Given the description of an element on the screen output the (x, y) to click on. 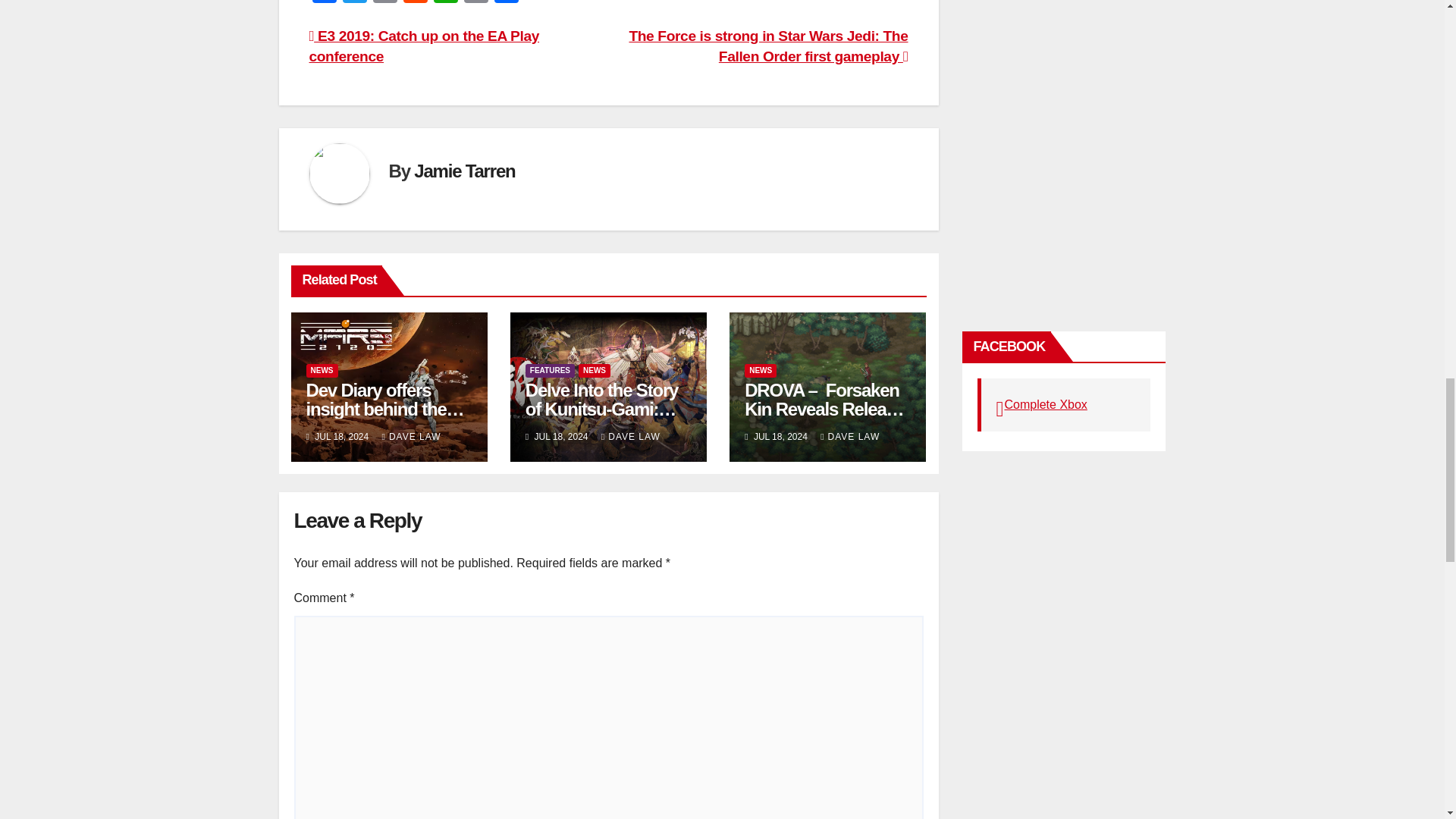
Email (384, 3)
Facebook (323, 3)
Reddit (415, 3)
Copy Link (476, 3)
Share (506, 3)
Email (384, 3)
Twitter (354, 3)
WhatsApp (445, 3)
Twitter (354, 3)
Facebook (323, 3)
E3 2019: Catch up on the EA Play conference (424, 45)
